Given the description of an element on the screen output the (x, y) to click on. 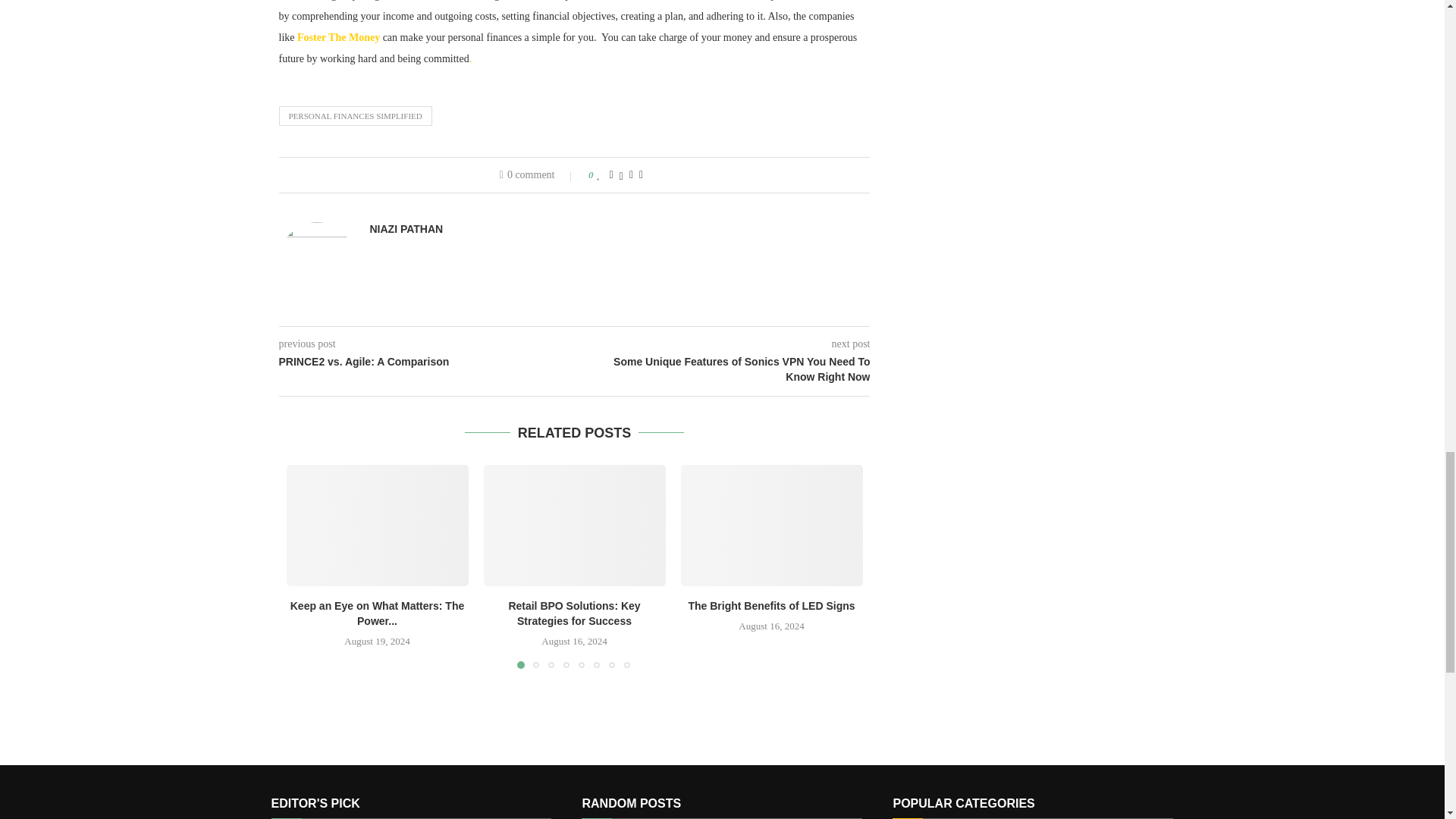
PERSONAL FINANCES SIMPLIFIED (355, 116)
Retail BPO Solutions: Key Strategies for Success (574, 525)
PRINCE2 vs. Agile: A Comparison (427, 362)
The Bright Benefits of LED Signs (772, 525)
Foster The Money (338, 37)
NIAZI PATHAN (406, 228)
Author Niazi Pathan (406, 228)
